Given the description of an element on the screen output the (x, y) to click on. 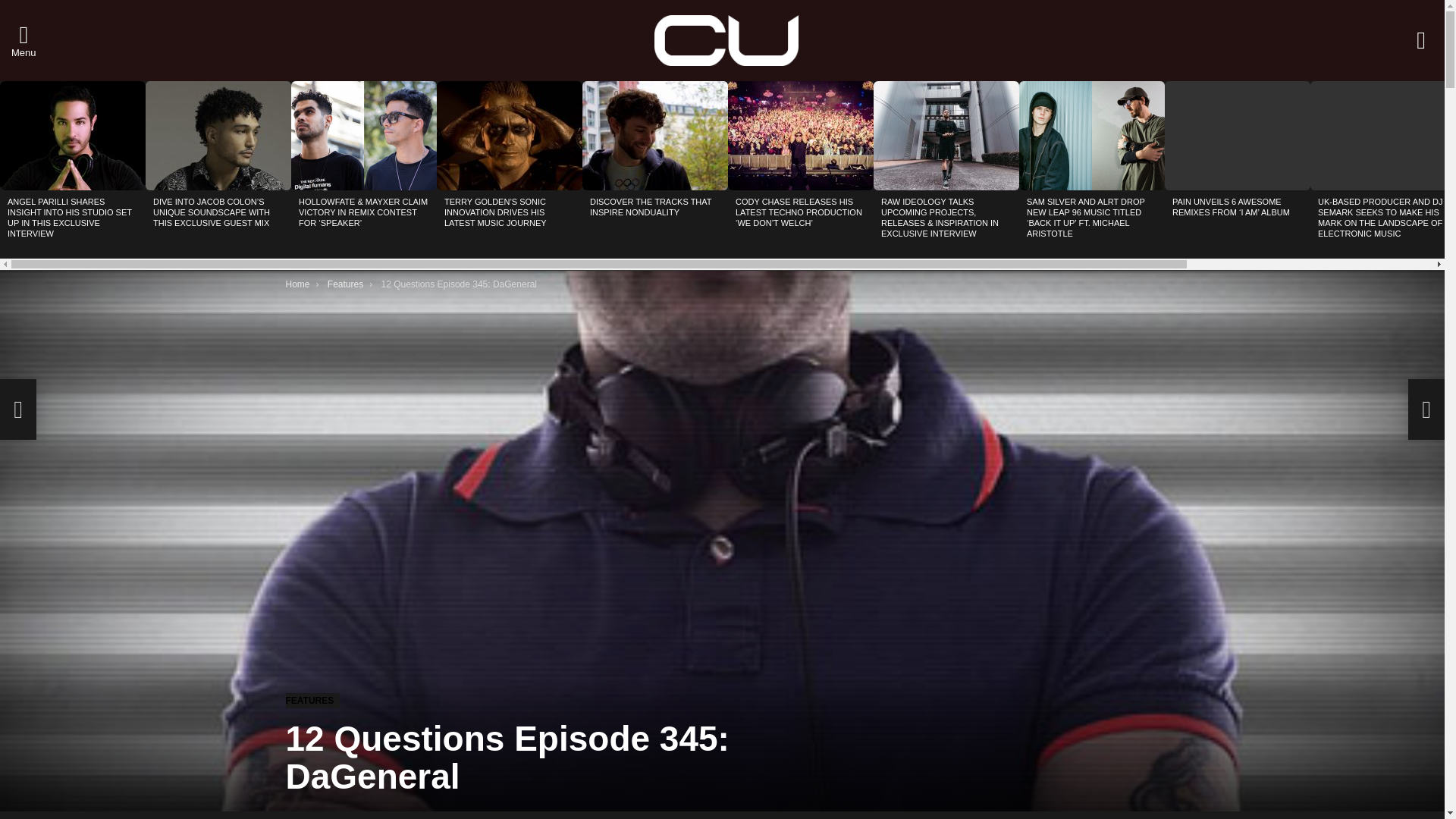
FEATURES (312, 700)
Features (344, 284)
DISCOVER THE TRACKS THAT INSPIRE NONDUALITY (650, 207)
Discover the Tracks That Inspire Nonduality (655, 135)
Home (296, 284)
